Given the description of an element on the screen output the (x, y) to click on. 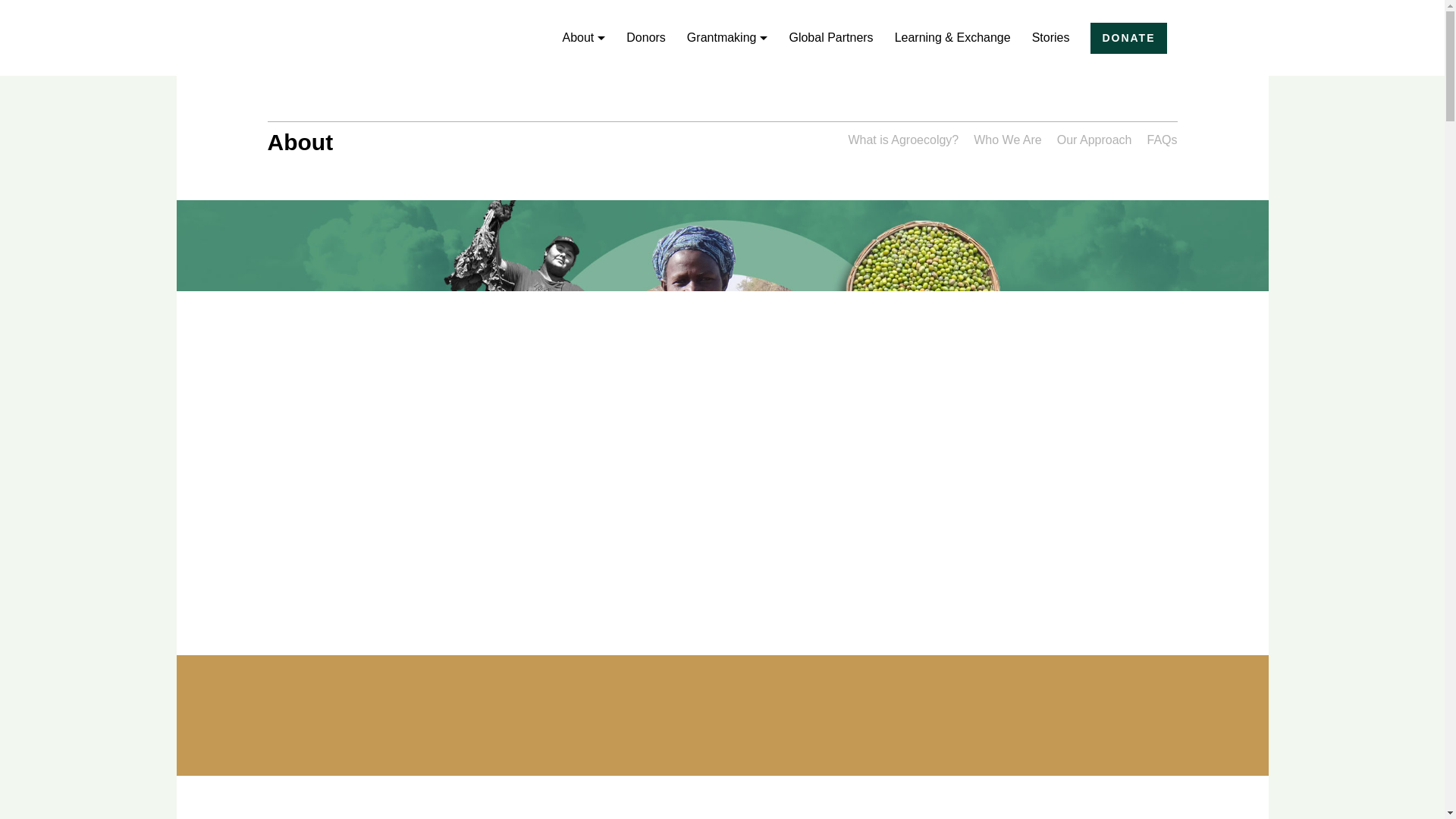
Donors (645, 37)
Agroecology Fund (408, 38)
SKIP TO CONTENT (11, 7)
DONATE (1128, 38)
Global Partners (830, 37)
Stories (1051, 37)
Skip to content (11, 7)
Who We Are (1008, 138)
Grantmaking (727, 37)
FAQs (1161, 138)
